Given the description of an element on the screen output the (x, y) to click on. 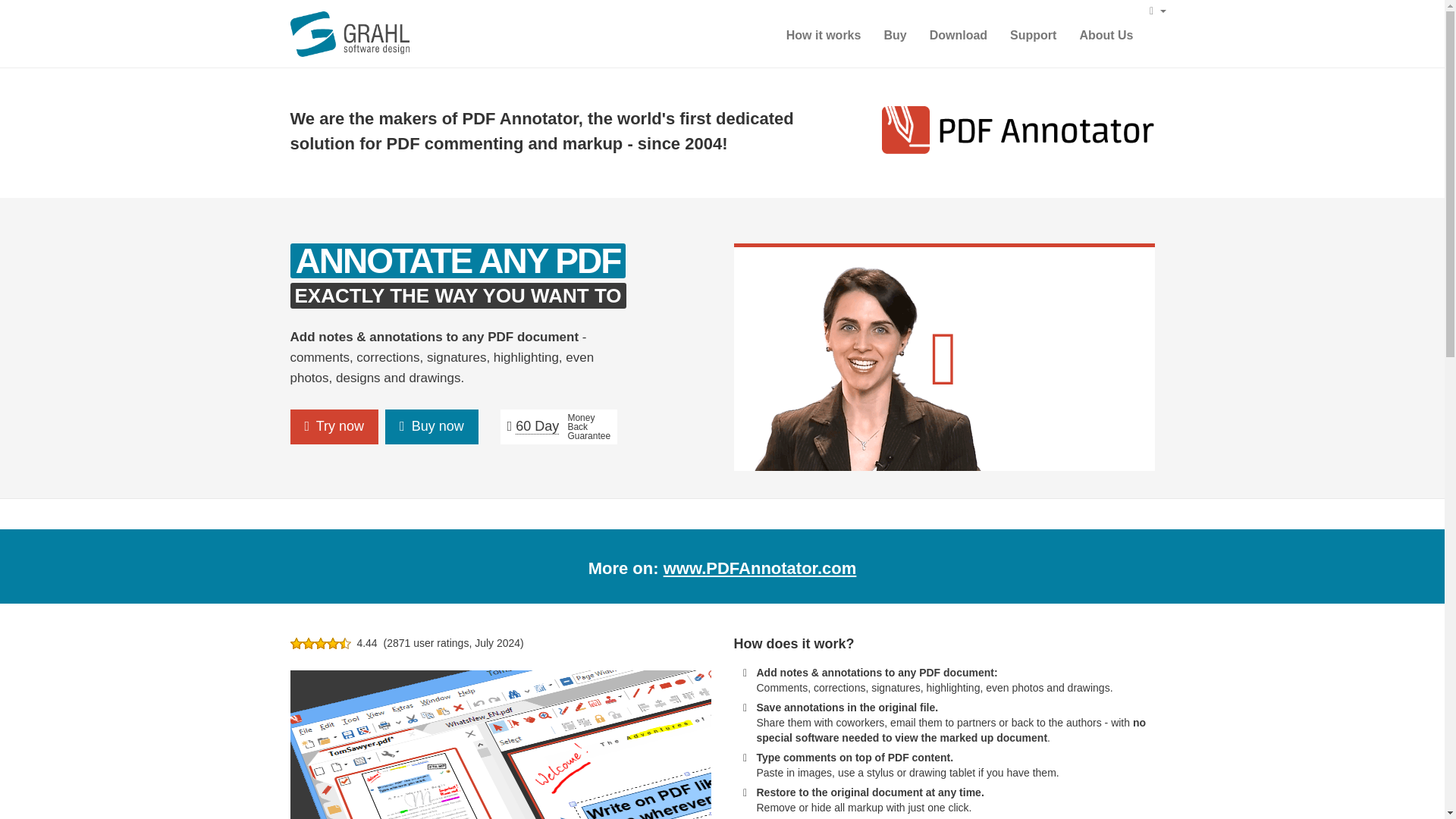
www.PDFAnnotator.com (760, 568)
How it works (823, 35)
Support (1032, 35)
Click to enlarge screen shots (499, 744)
Buy now (432, 426)
About Us (1105, 35)
Download (958, 35)
Try now (333, 426)
